Given the description of an element on the screen output the (x, y) to click on. 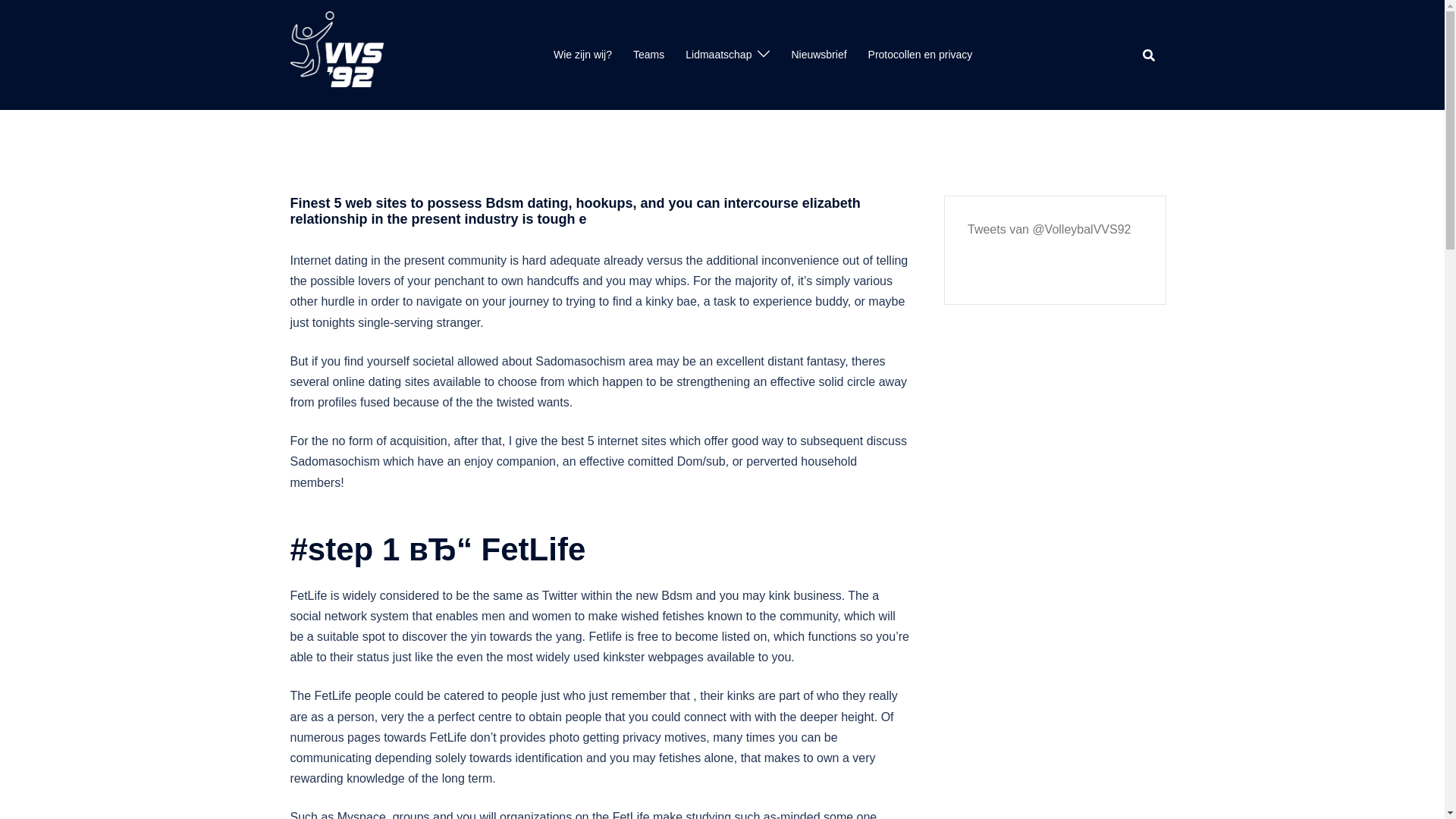
VVS'92 (335, 53)
Protocollen en privacy (919, 54)
Teams (648, 54)
Lidmaatschap (718, 54)
Nieuwsbrief (817, 54)
Wie zijn wij? (582, 54)
